Given the description of an element on the screen output the (x, y) to click on. 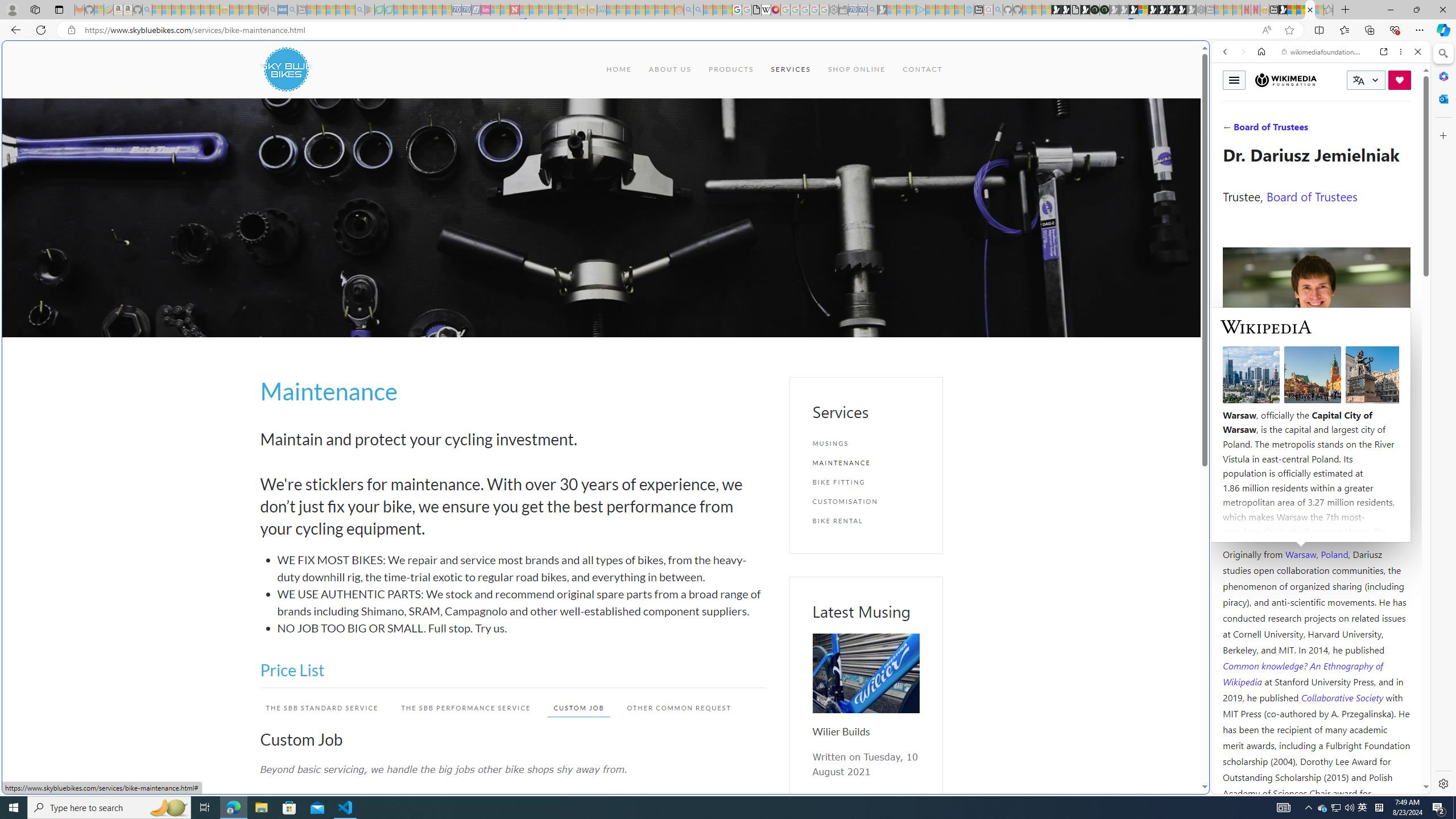
Class: uk-navbar-item uk-logo (285, 68)
Expert Portfolios - Sleeping (639, 9)
HOME (619, 68)
Wilier Builds (866, 673)
Search Filter, Search Tools (1350, 129)
CUSTOM JOB (578, 707)
google_privacy_policy_zh-CN.pdf (755, 9)
